Given the description of an element on the screen output the (x, y) to click on. 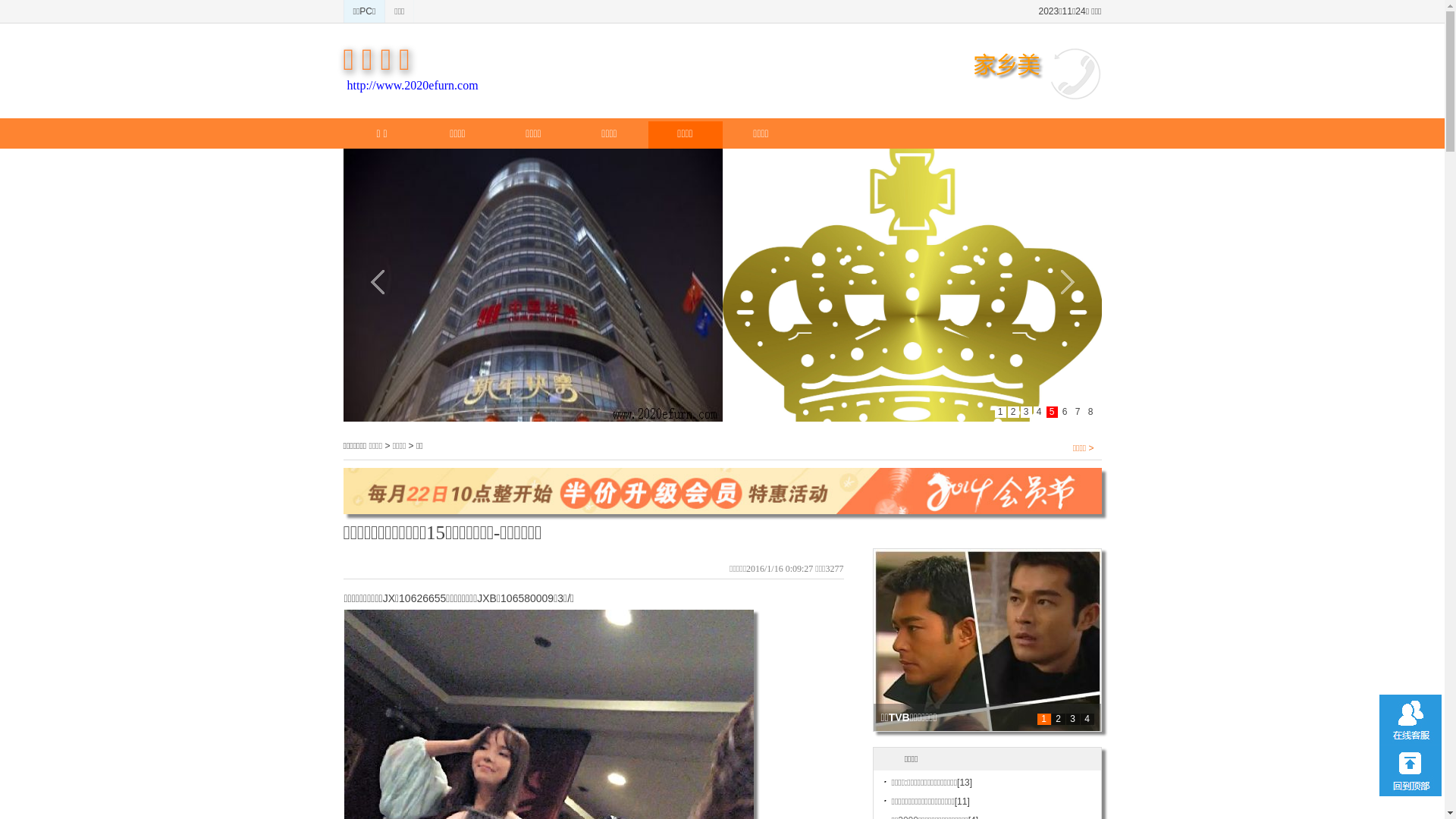
http://www.2020efurn.com Element type: text (412, 84)
4 Element type: text (1086, 718)
1 Element type: text (1044, 718)
2 Element type: text (1057, 718)
3 Element type: text (1072, 718)
